Given the description of an element on the screen output the (x, y) to click on. 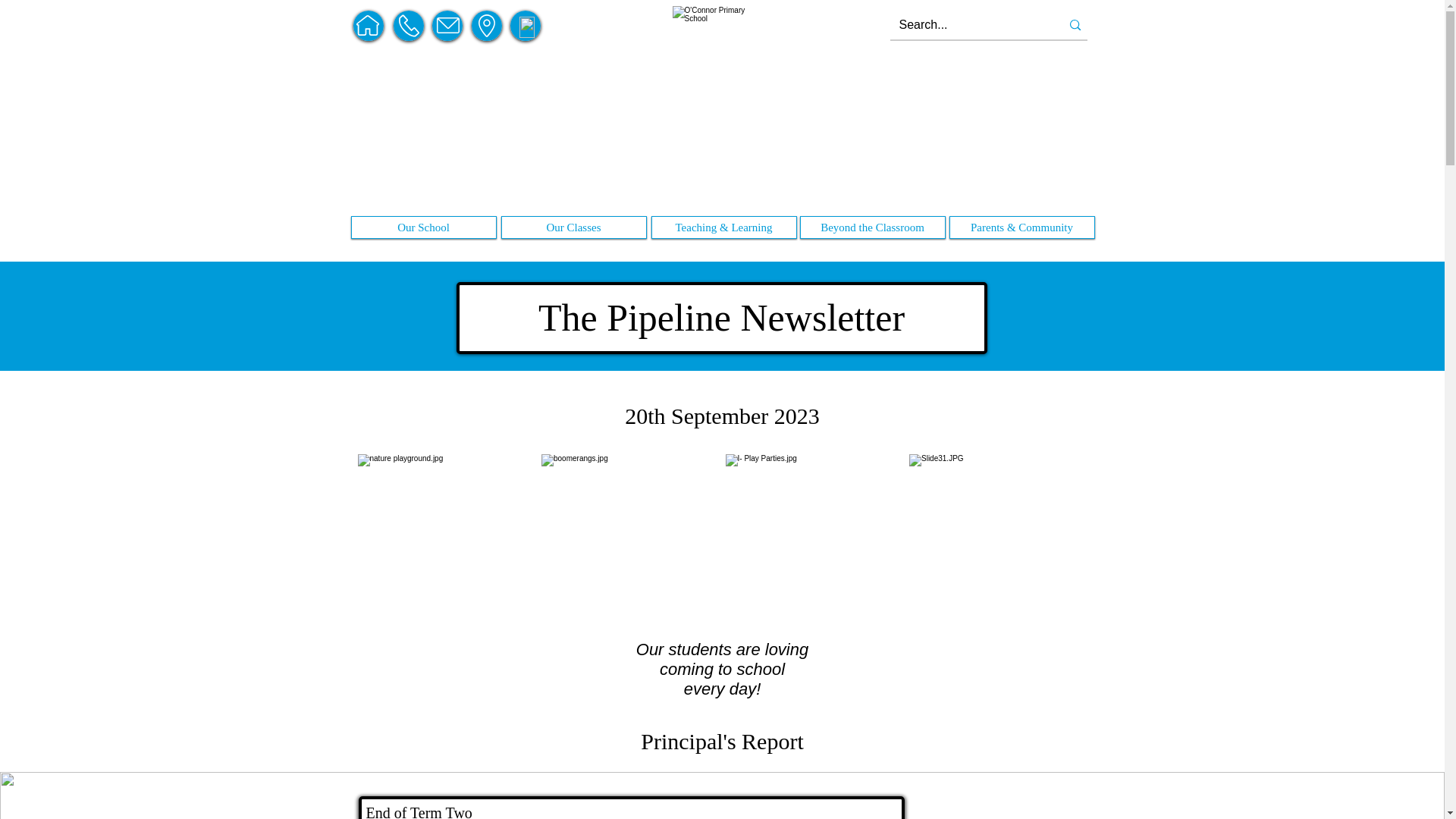
Newsletter (1021, 226)
Our Classes (573, 227)
T a L L s (423, 229)
Early Childhood (723, 229)
Year Five (573, 229)
Administration Team (423, 228)
Special Events (871, 229)
